Given the description of an element on the screen output the (x, y) to click on. 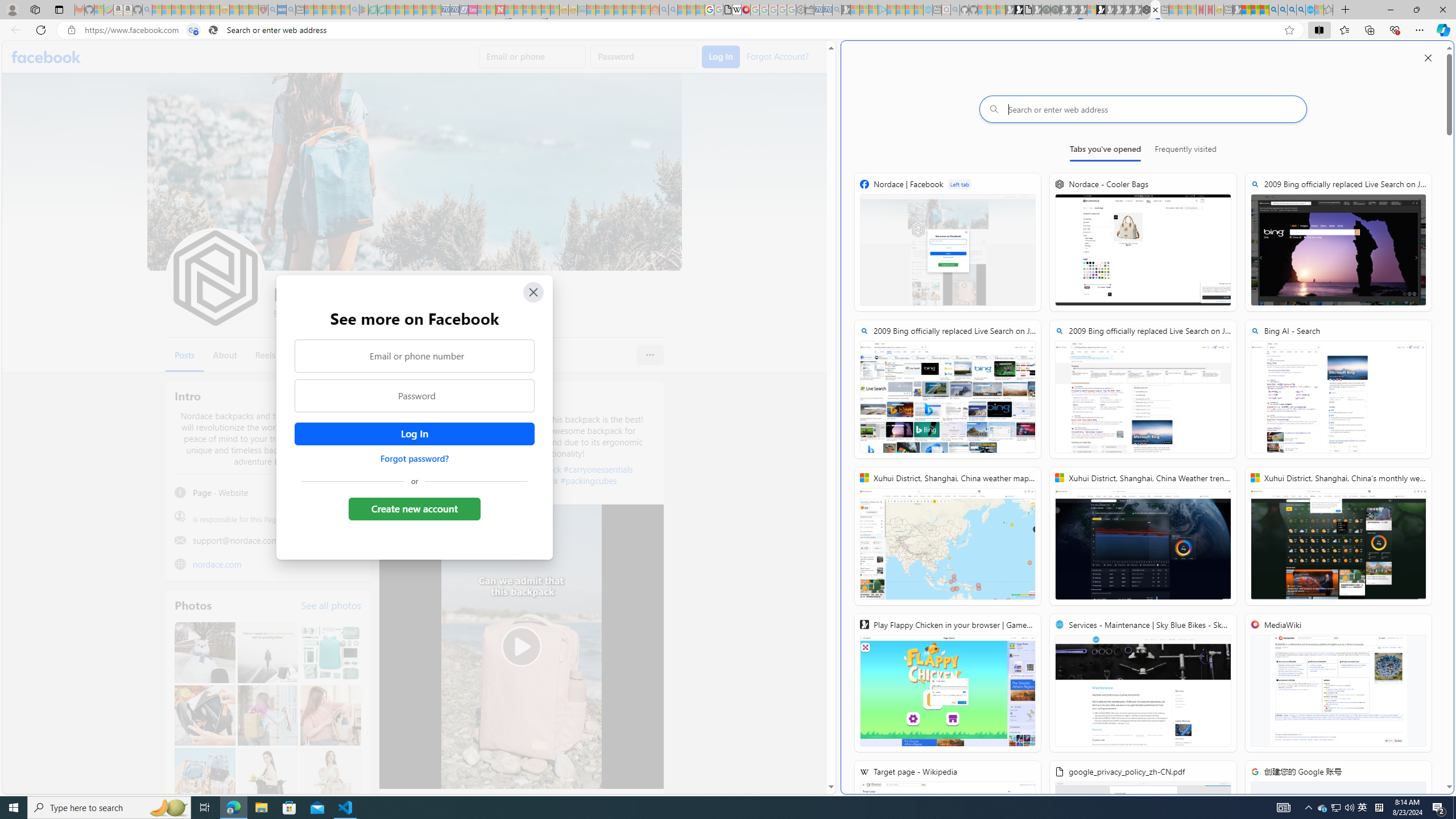
Expert Portfolios - Sleeping (617, 9)
Services - Maintenance | Sky Blue Bikes - Sky Blue Bikes (1309, 9)
github - Search - Sleeping (954, 9)
Facebook (46, 56)
Tabs you've opened (1104, 151)
14 Common Myths Debunked By Scientific Facts - Sleeping (518, 9)
DITOGAMES AG Imprint - Sleeping (581, 9)
Favorites - Sleeping (1328, 9)
